Given the description of an element on the screen output the (x, y) to click on. 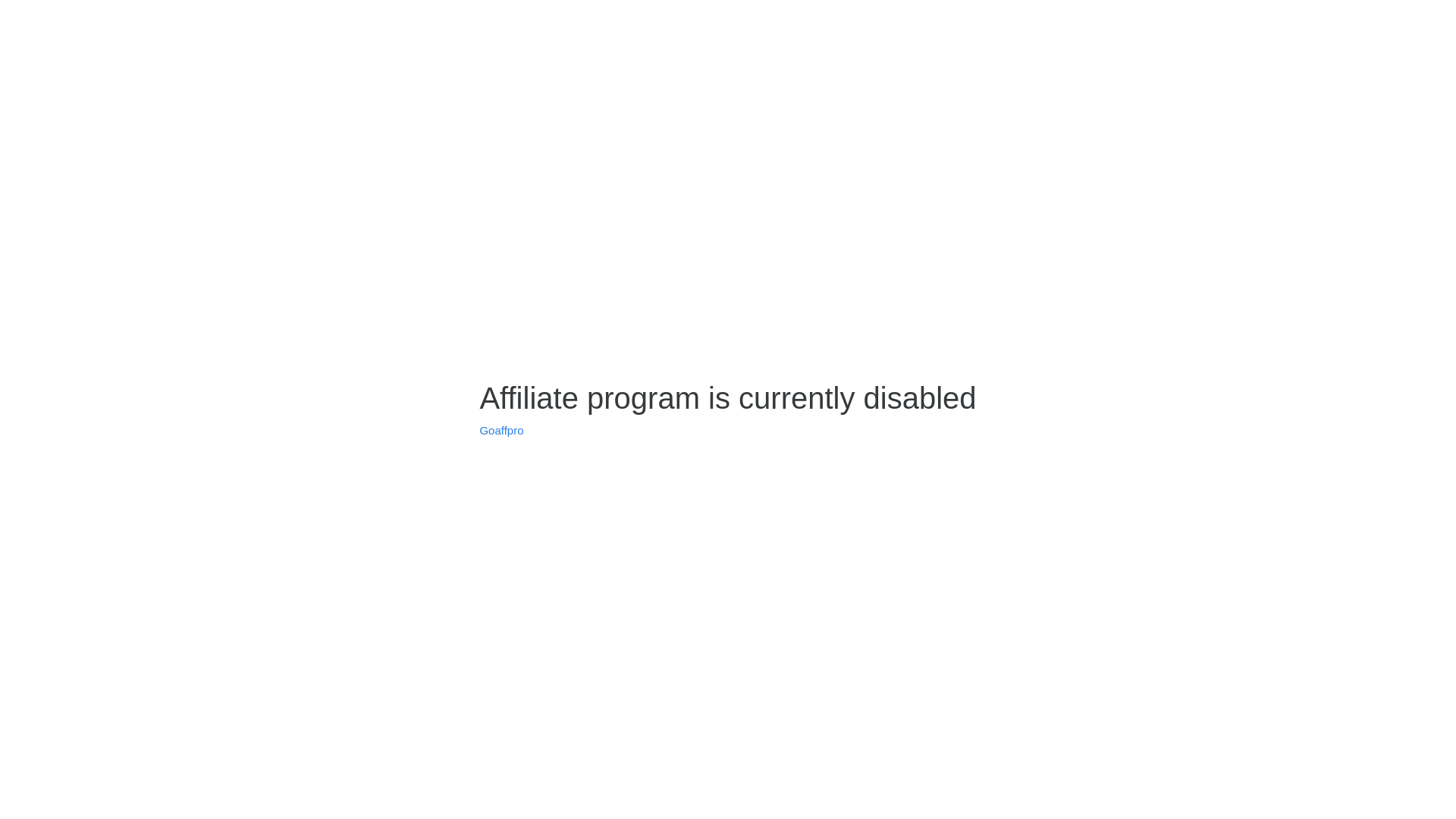
Goaffpro Element type: text (501, 429)
